Given the description of an element on the screen output the (x, y) to click on. 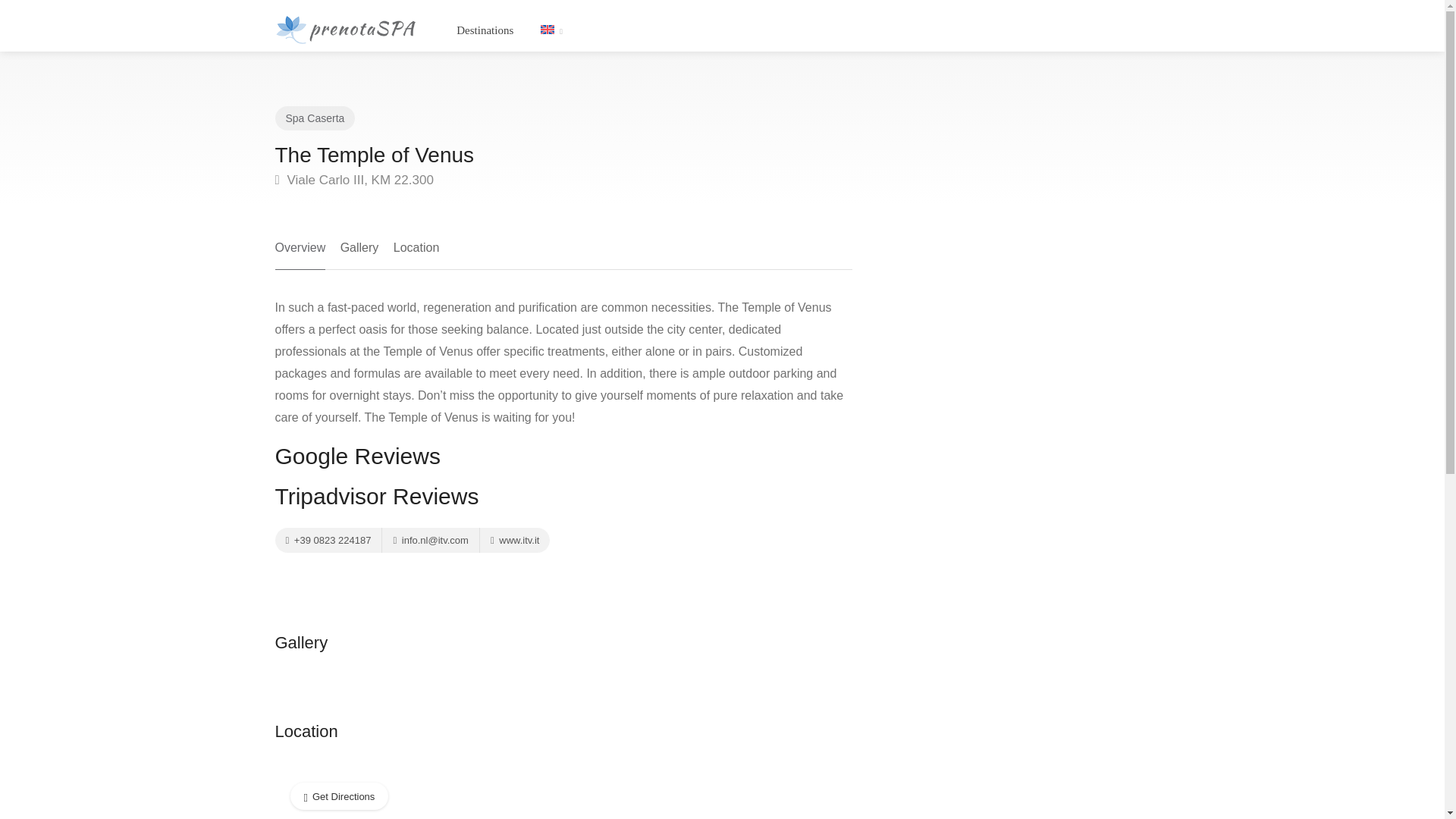
prenotaSPA (345, 29)
Gallery (359, 253)
Viale Carlo III, KM 22.300 (353, 179)
www.itv.it (514, 539)
Overview (299, 253)
Spa Caserta (314, 118)
Location (416, 253)
Destinations (484, 30)
